Given the description of an element on the screen output the (x, y) to click on. 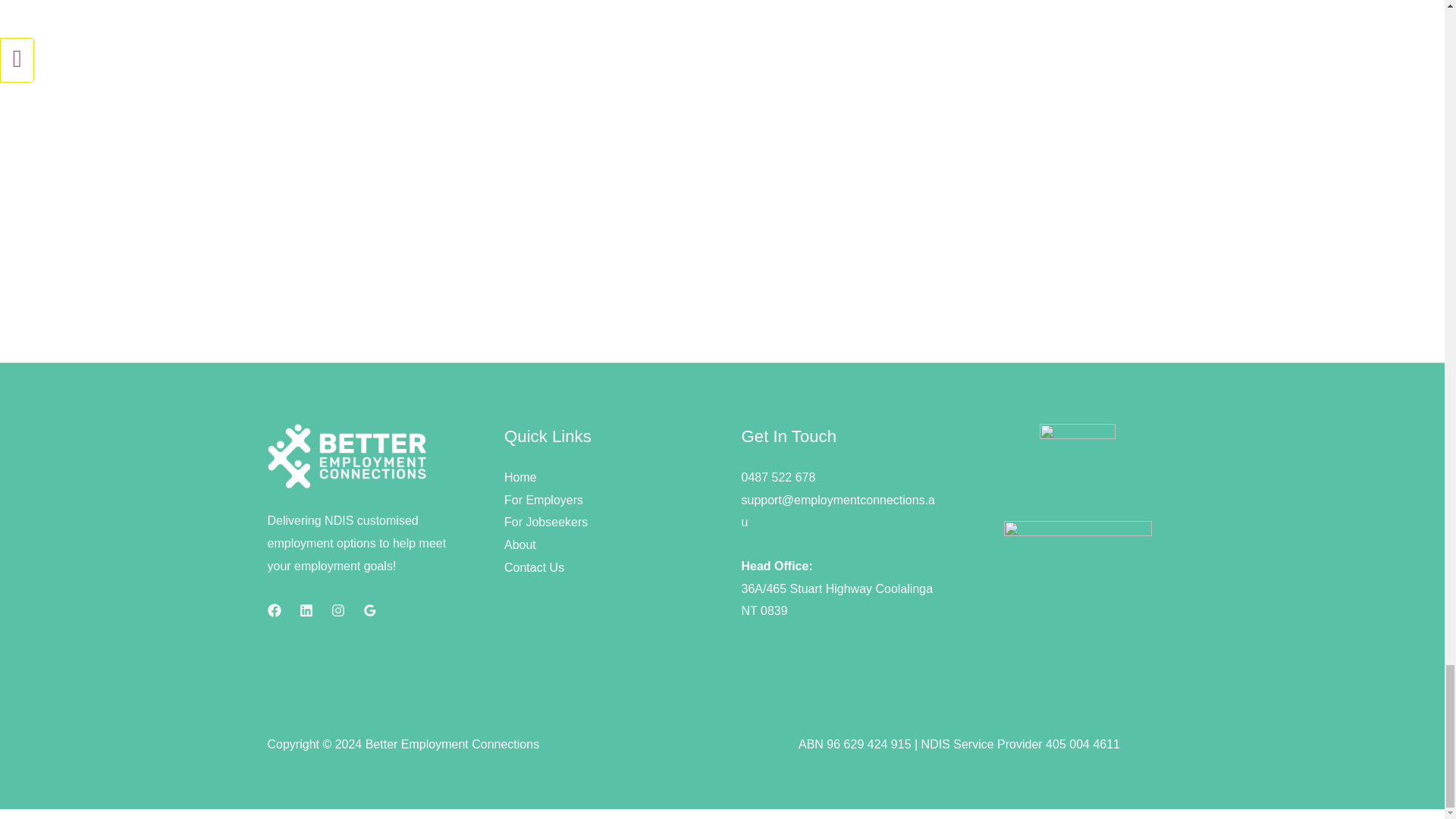
For Employers (543, 499)
Home (520, 477)
0487 522 678 (778, 477)
About (519, 544)
Contact Us (533, 567)
For Jobseekers (545, 521)
wpforms-submit (778, 230)
